Given the description of an element on the screen output the (x, y) to click on. 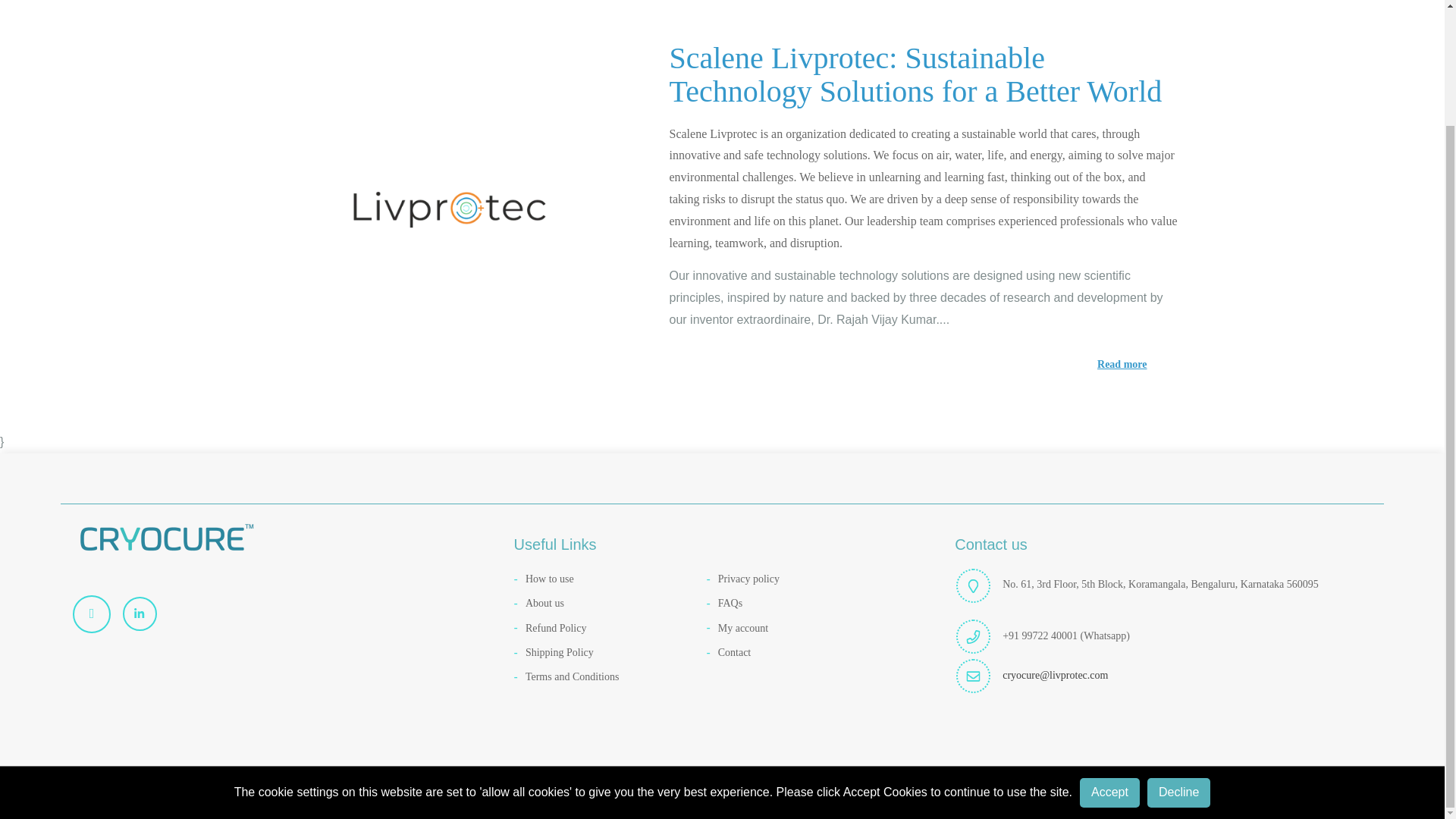
Privacy policy (802, 579)
How to use (609, 579)
Read more (922, 364)
YouTube (97, 614)
Linkedin (146, 613)
